Given the description of an element on the screen output the (x, y) to click on. 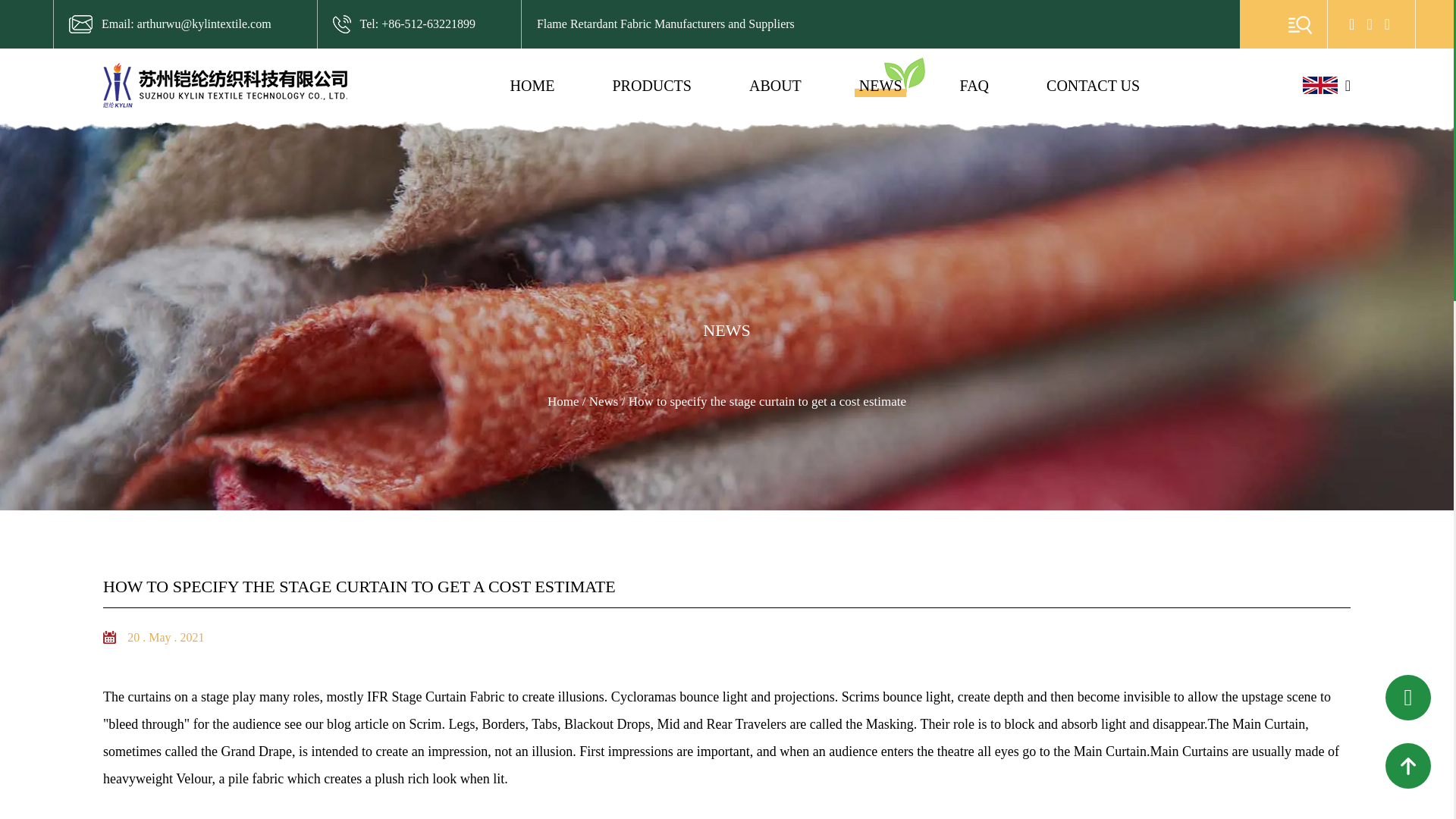
NEWS (880, 85)
ABOUT (775, 85)
HOME (532, 85)
FAQ (974, 85)
PRODUCTS (650, 85)
CONTACT US (1093, 85)
Flame Retardant Fabric Manufacturers and Suppliers (665, 24)
